Given the description of an element on the screen output the (x, y) to click on. 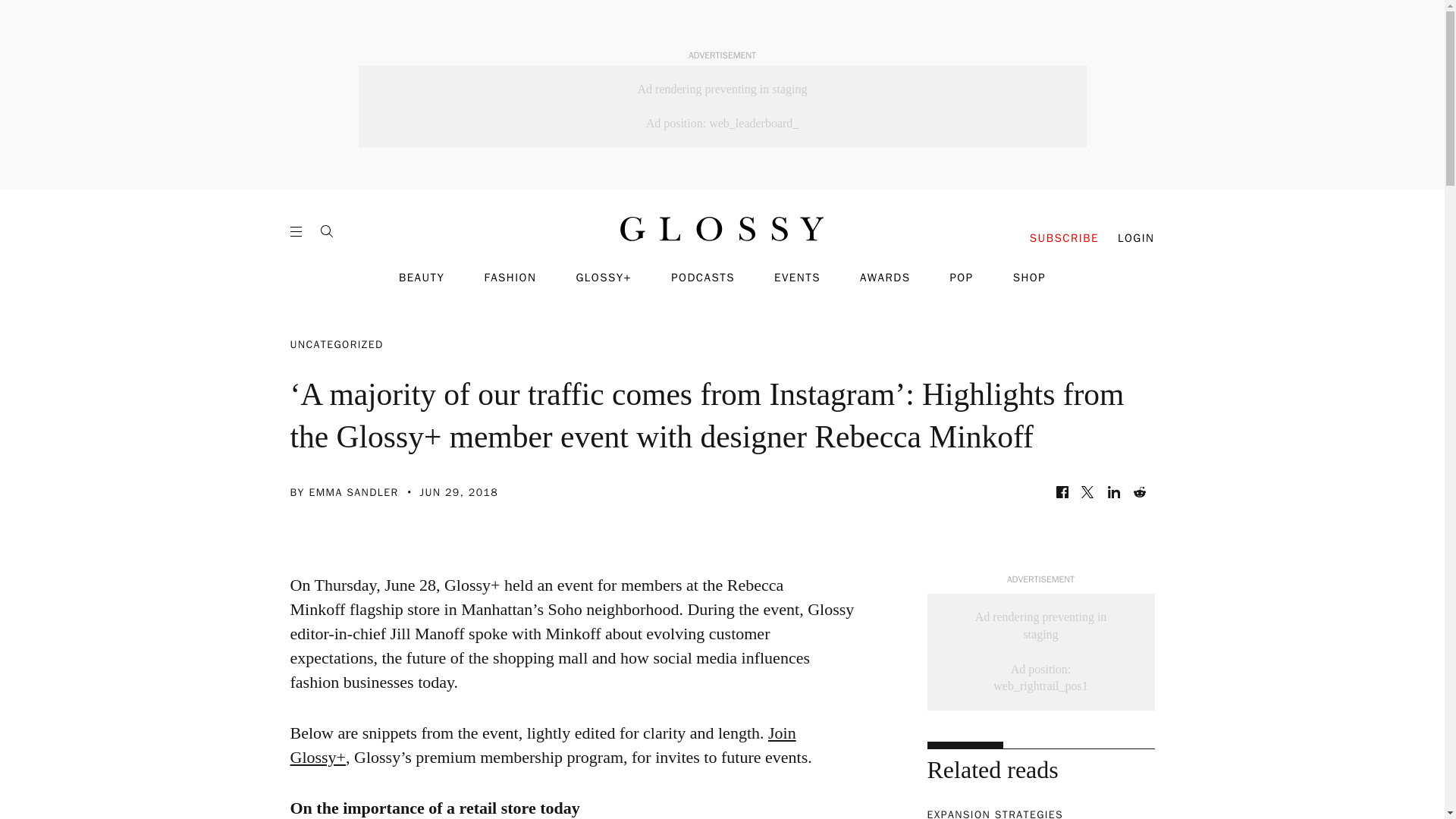
FASHION (509, 277)
SUBSCRIBE (1064, 238)
SHOP (1029, 277)
POP (960, 277)
EVENTS (797, 277)
PODCASTS (703, 277)
LOGIN (1136, 238)
BEAUTY (421, 277)
AWARDS (885, 277)
